Given the description of an element on the screen output the (x, y) to click on. 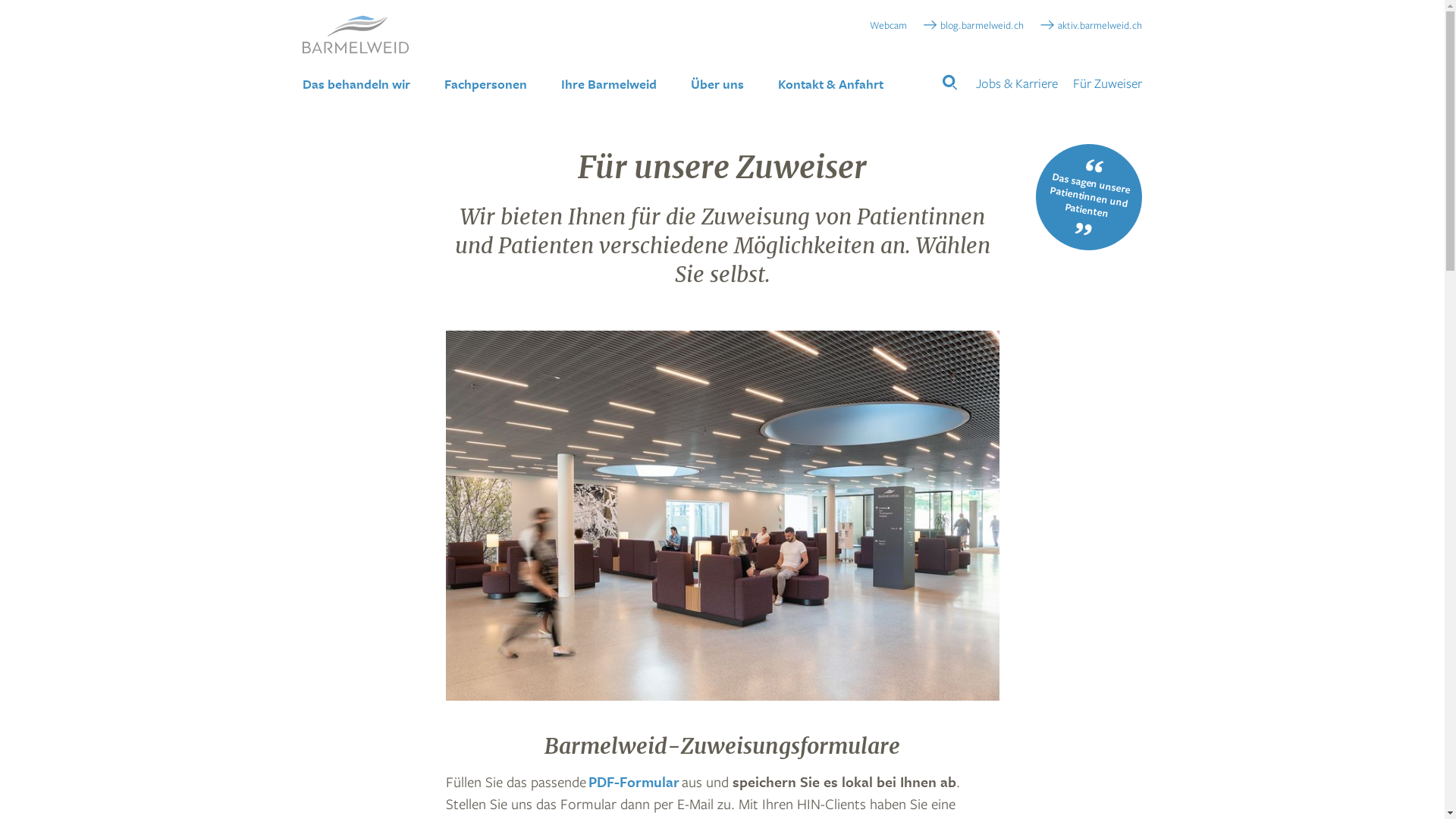
Webcam Element type: text (883, 24)
PDF-Formular Element type: text (633, 781)
Jobs & Karriere Element type: text (1016, 82)
Fachpersonen Element type: text (485, 84)
Das behandeln wir Element type: text (356, 84)
Ihre Barmelweid Element type: text (608, 84)
Suche Element type: text (117, 16)
Kontakt & Anfahrt Element type: text (830, 84)
